Given the description of an element on the screen output the (x, y) to click on. 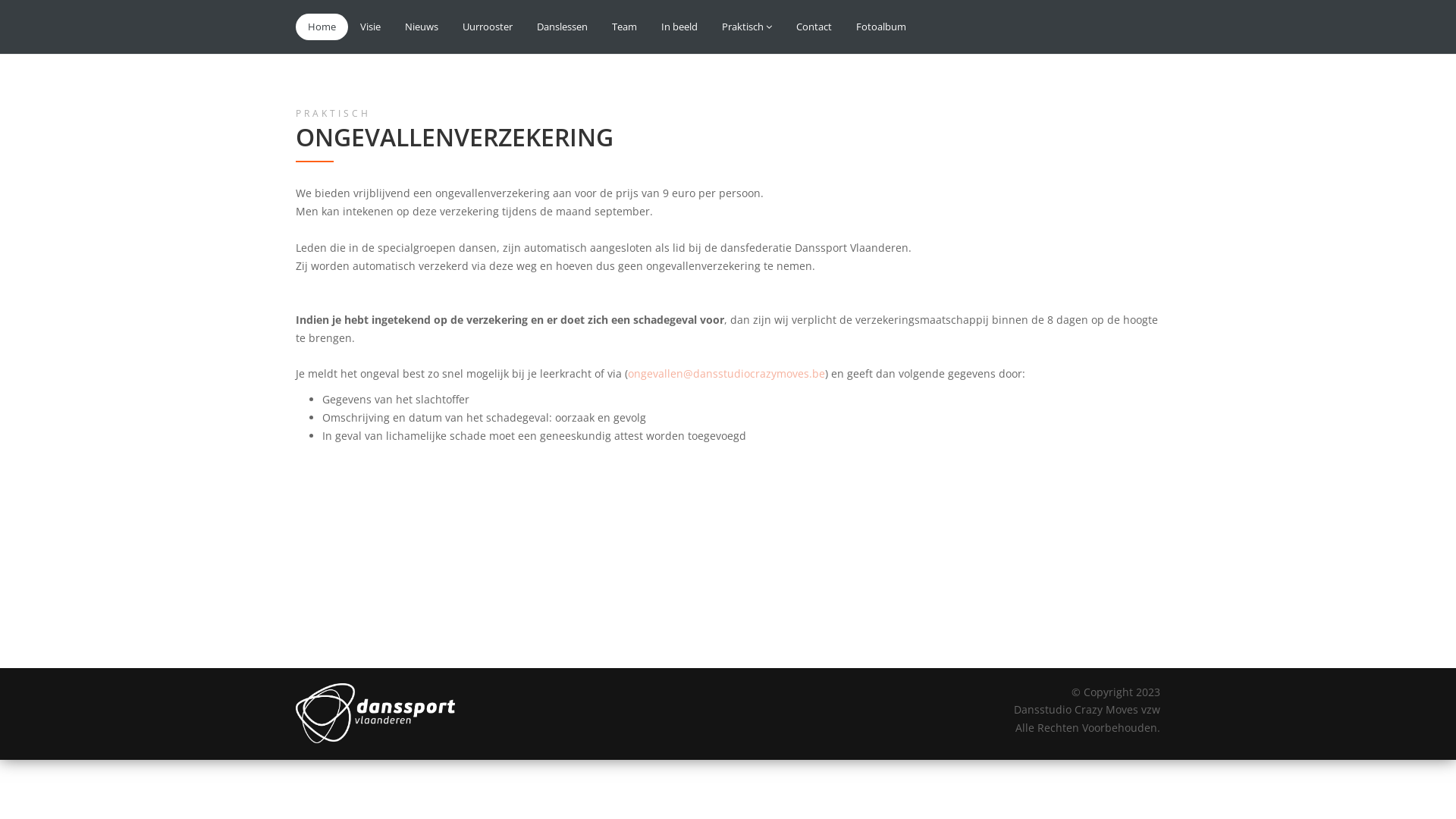
In beeld Element type: text (679, 26)
ongevallen@dansstudiocrazymoves.be Element type: text (726, 373)
Praktisch Element type: text (746, 26)
Team Element type: text (624, 26)
Nieuws Element type: text (421, 26)
Fotoalbum Element type: text (881, 26)
Uurrooster Element type: text (487, 26)
Danslessen Element type: text (561, 26)
Visie Element type: text (370, 26)
Contact Element type: text (814, 26)
Home Element type: text (321, 26)
